Given the description of an element on the screen output the (x, y) to click on. 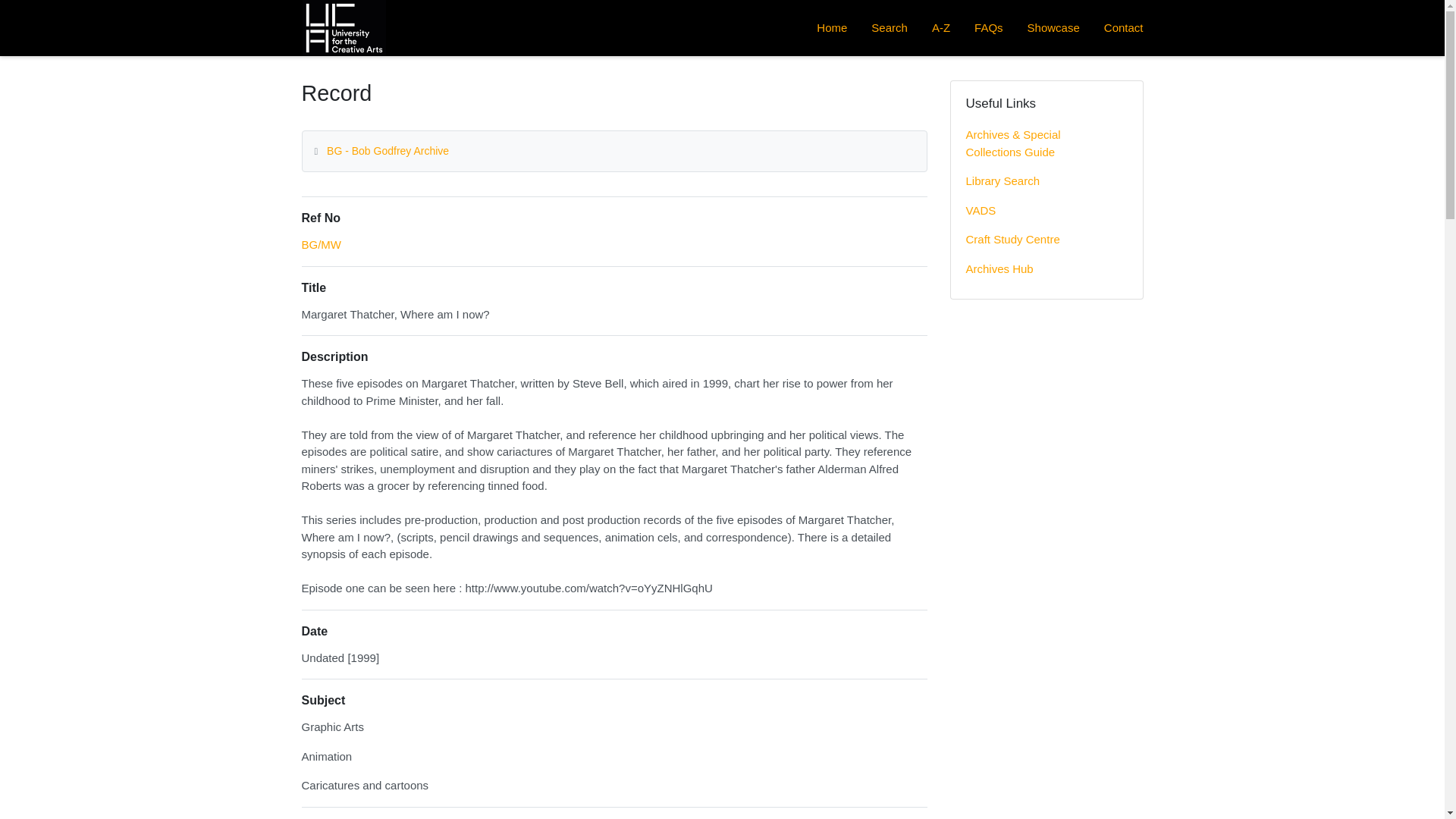
BG - Bob Godfrey Archive (387, 150)
Showcase (1053, 28)
Browse record in hierarchy. (321, 244)
Craft Study Centre (1046, 239)
Library Search (1046, 181)
VADS (1046, 210)
Archives Hub (1046, 269)
Homepage (343, 28)
